Given the description of an element on the screen output the (x, y) to click on. 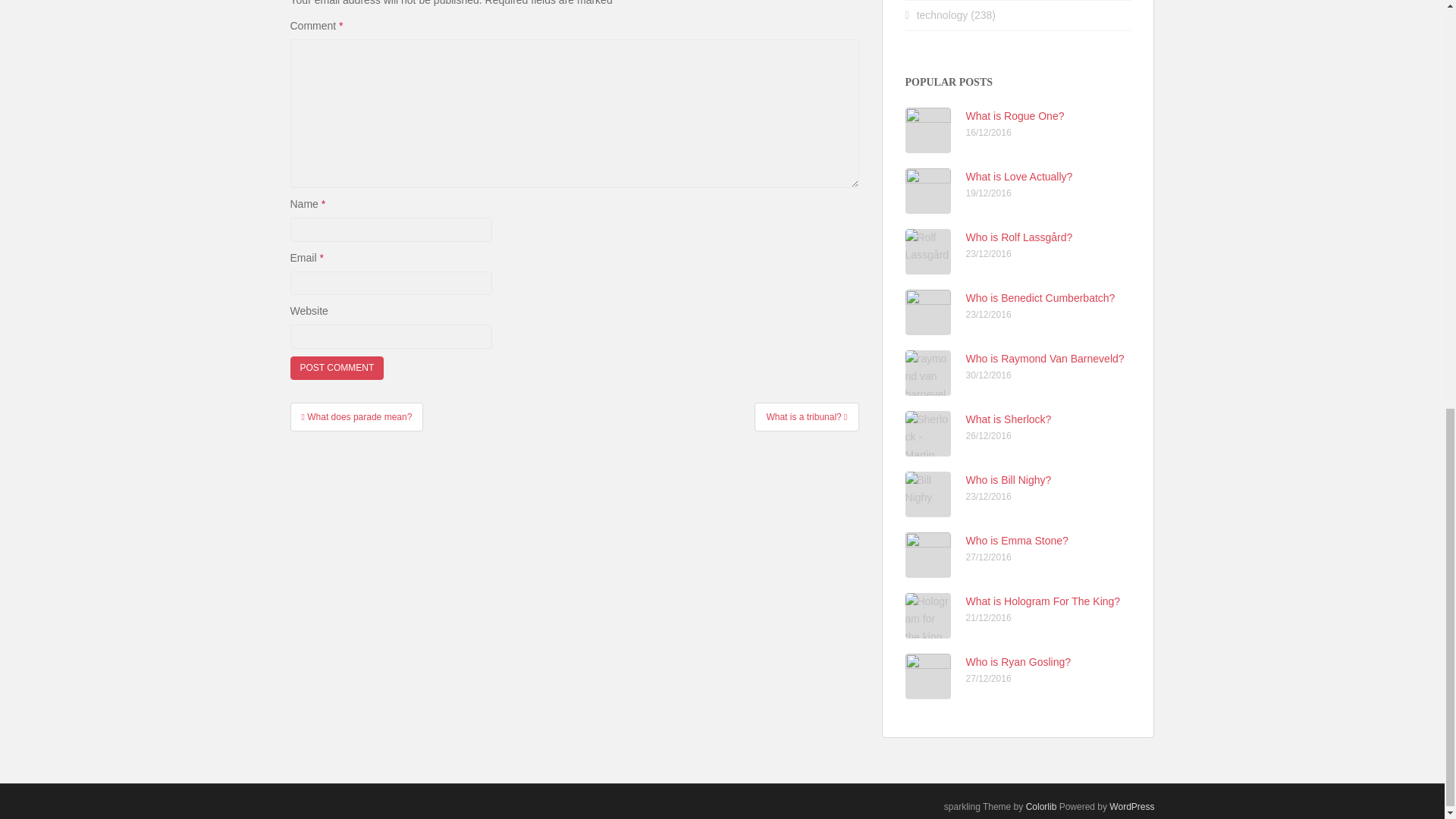
Post Comment (336, 368)
What does parade mean? (356, 416)
What is a tribunal? (806, 416)
Post Comment (336, 368)
technology (942, 15)
What is Love Actually? (1019, 176)
Who is Benedict Cumberbatch? (1040, 297)
Who is Raymond Van Barneveld? (1045, 358)
What is Rogue One? (1015, 115)
